Given the description of an element on the screen output the (x, y) to click on. 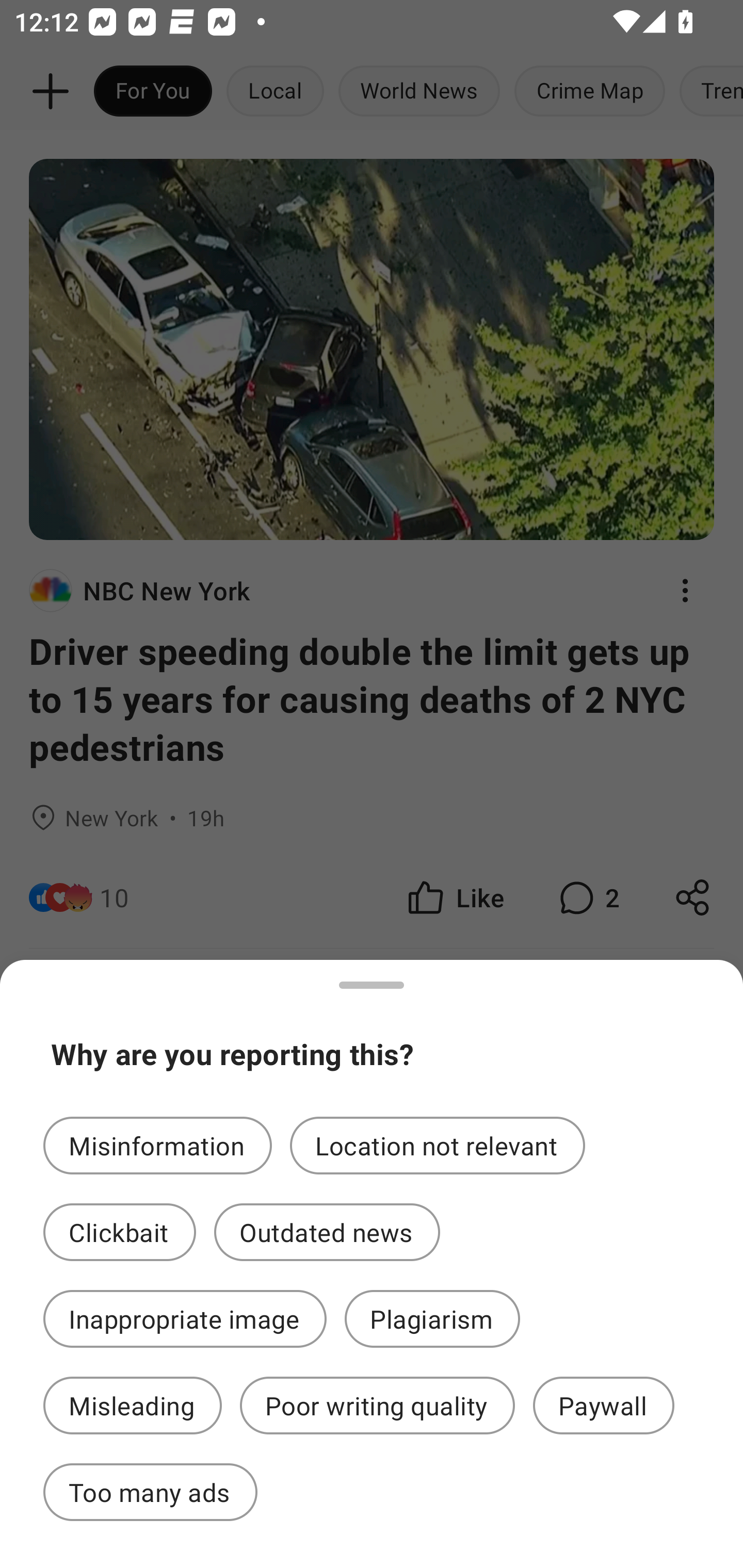
Misinformation (157, 1145)
Location not relevant (437, 1145)
Clickbait (119, 1231)
Outdated news (326, 1231)
Inappropriate image (184, 1319)
Plagiarism (432, 1319)
Misleading (132, 1405)
Poor writing quality (376, 1405)
Paywall (603, 1405)
Too many ads (150, 1491)
